Given the description of an element on the screen output the (x, y) to click on. 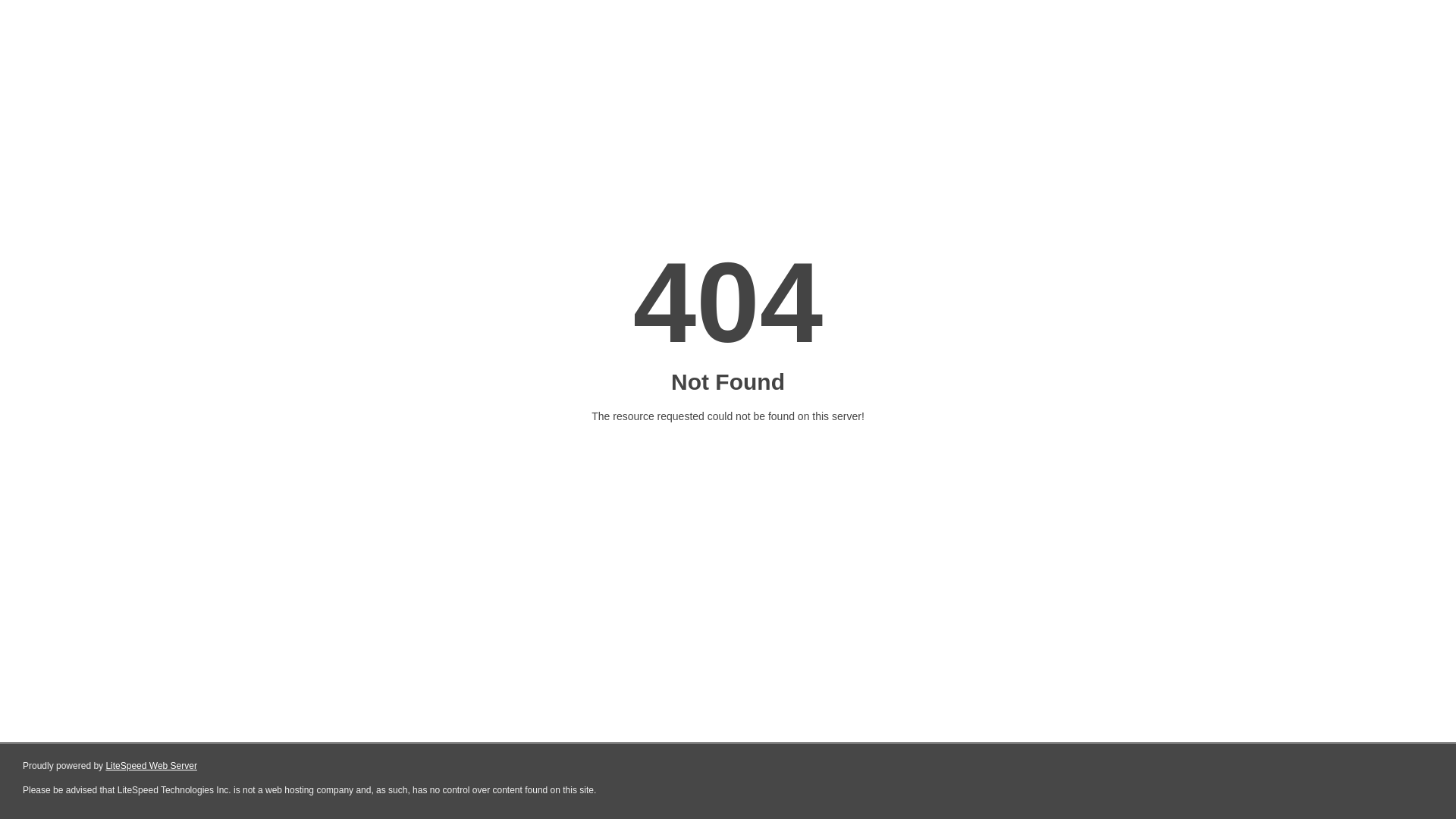
LiteSpeed Web Server Element type: text (151, 765)
